Given the description of an element on the screen output the (x, y) to click on. 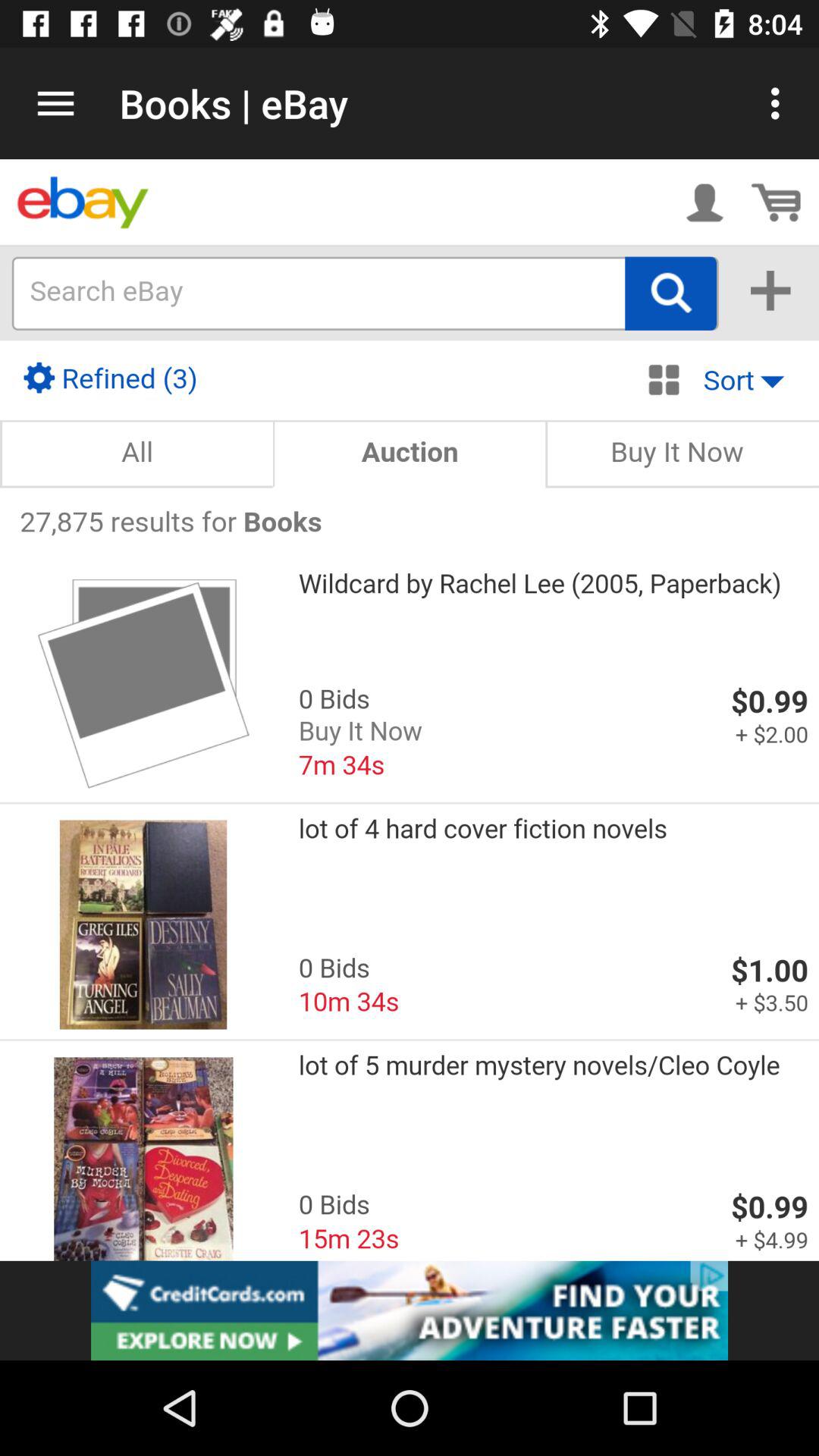
visit the advertisement site (409, 1310)
